Given the description of an element on the screen output the (x, y) to click on. 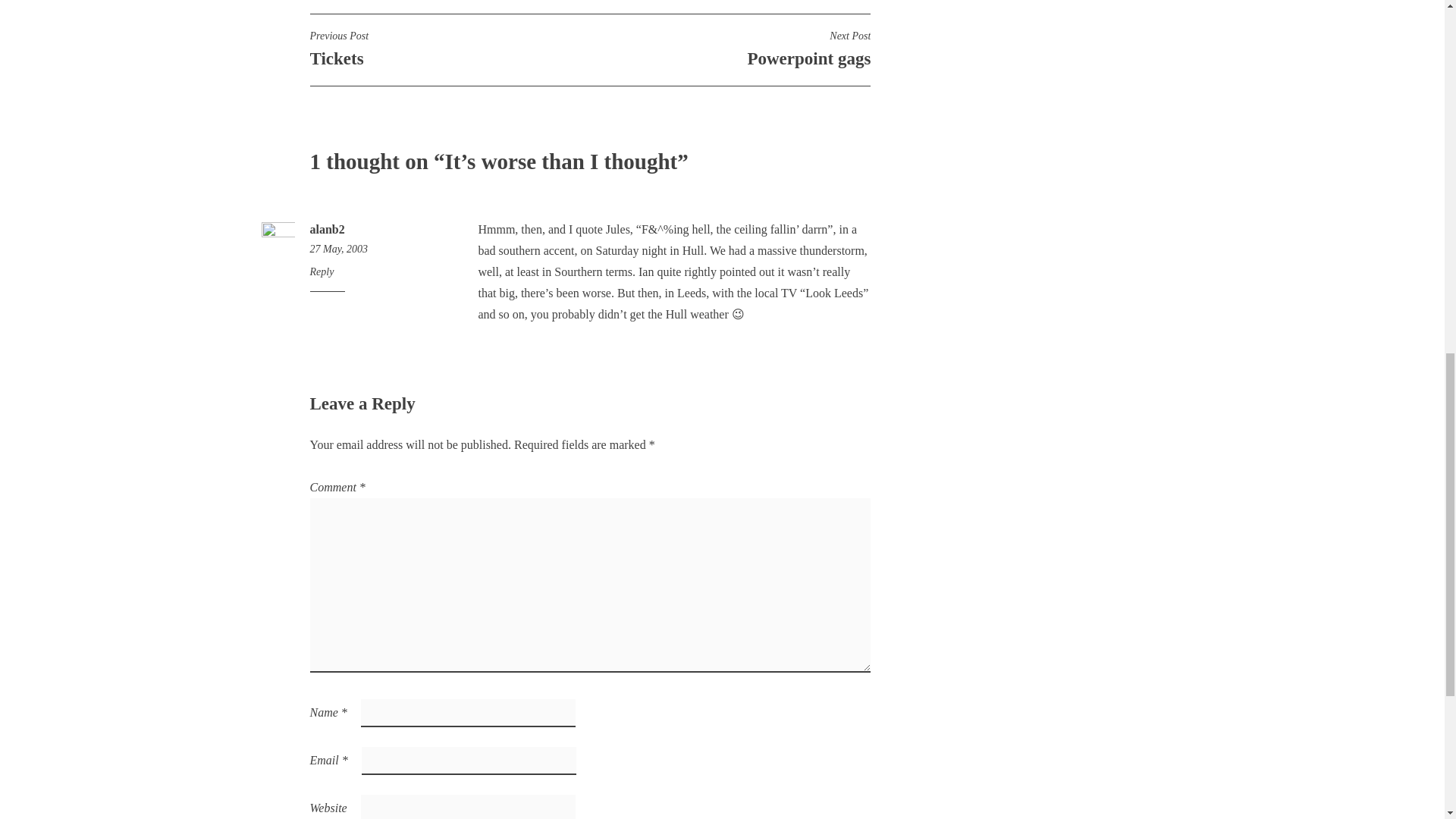
alanb2 (378, 249)
Reply (729, 48)
